Given the description of an element on the screen output the (x, y) to click on. 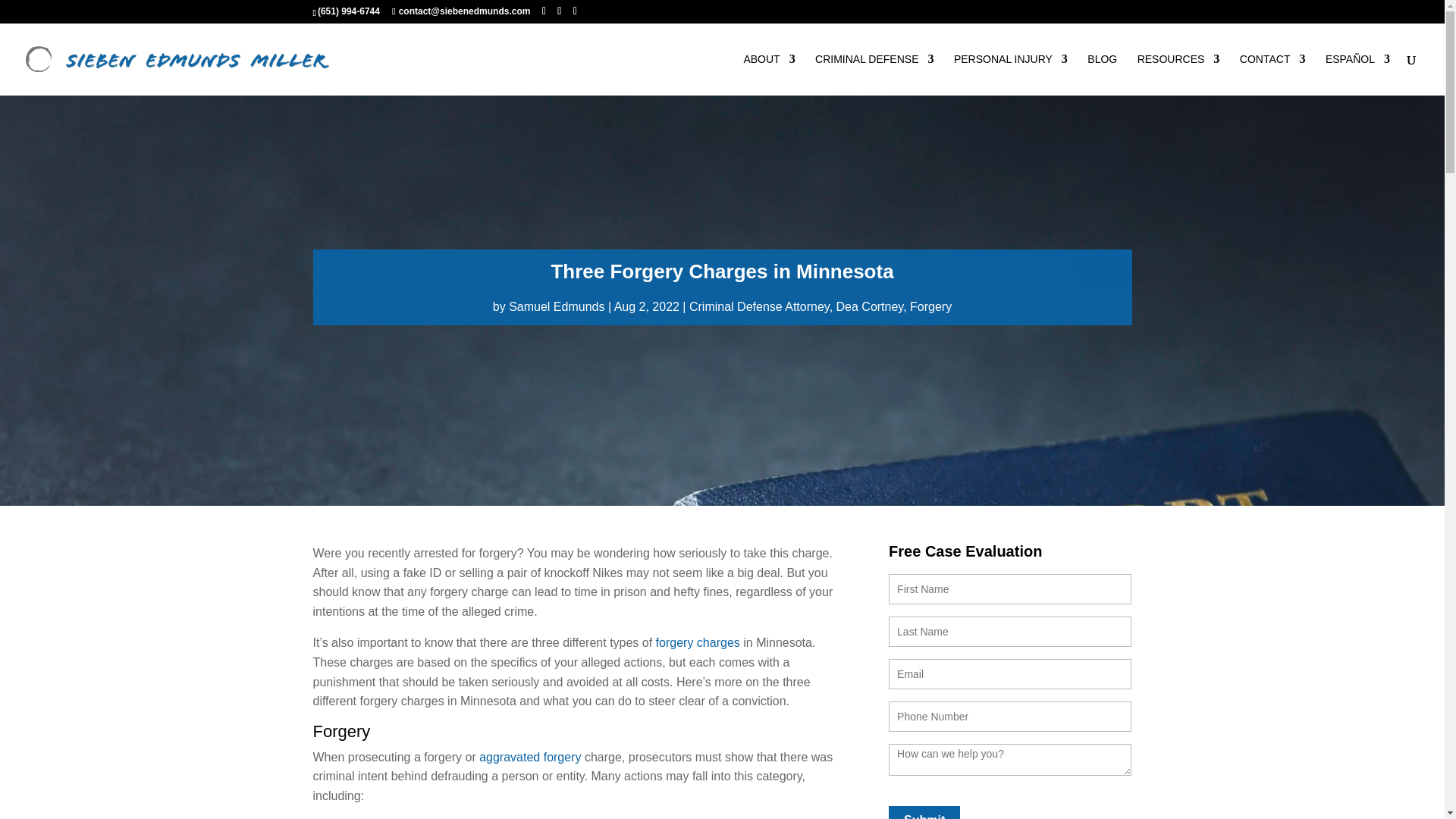
Submit (923, 812)
ABOUT (768, 74)
Posts by Samuel Edmunds (556, 306)
CRIMINAL DEFENSE (874, 74)
